Given the description of an element on the screen output the (x, y) to click on. 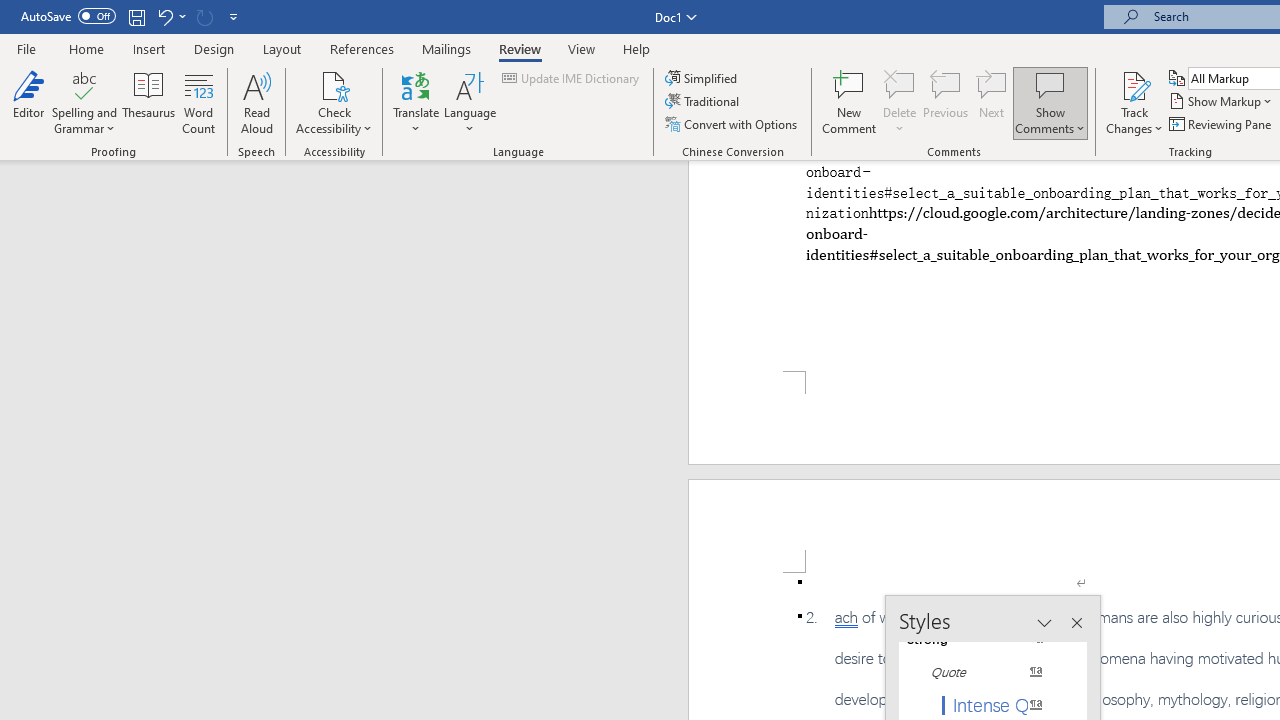
Show Markup (1222, 101)
Previous (946, 102)
Spelling and Grammar (84, 102)
